Given the description of an element on the screen output the (x, y) to click on. 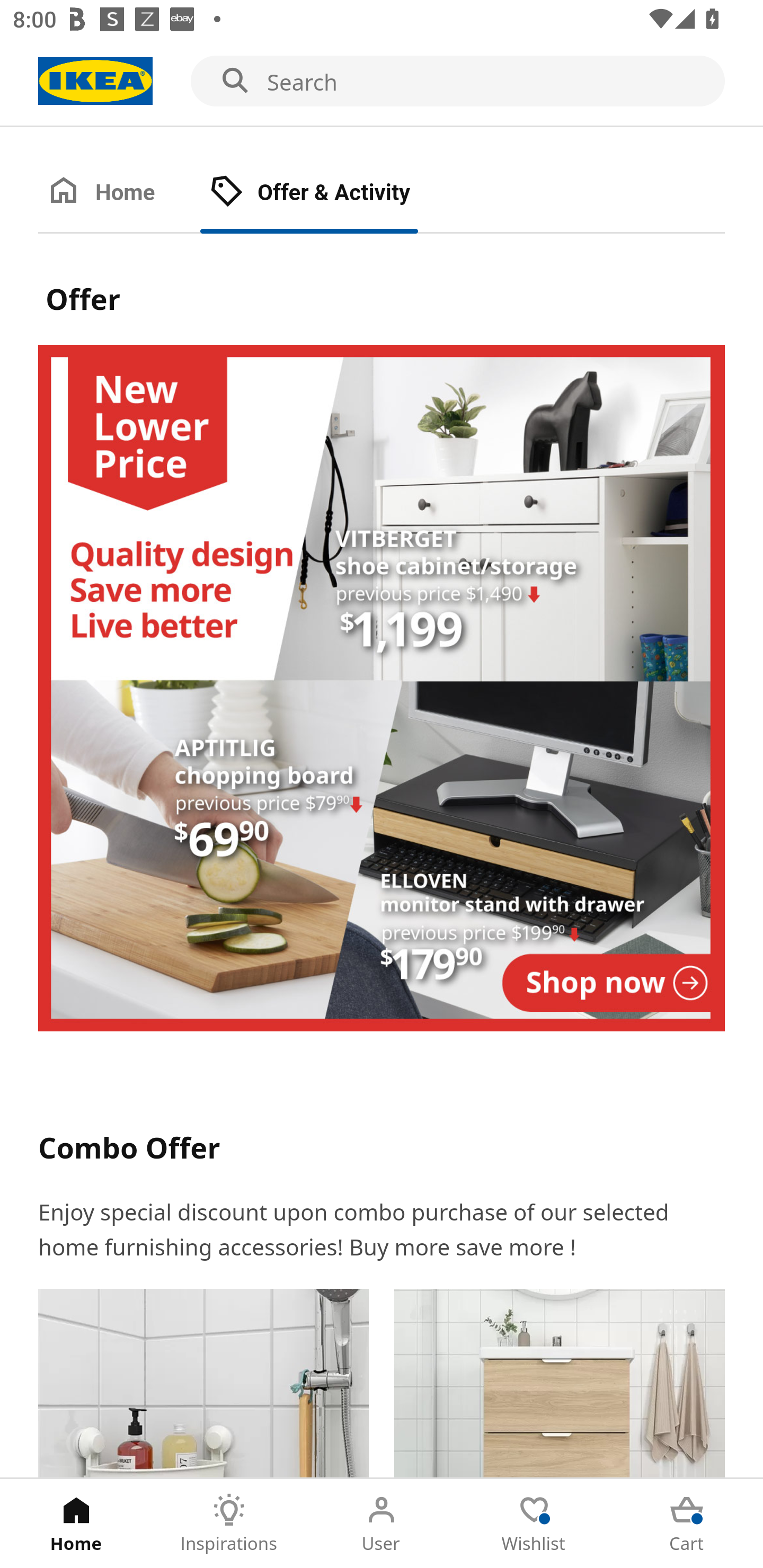
Search (381, 81)
Home
Tab 1 of 2 (118, 192)
Offer & Activity
Tab 2 of 2 (327, 192)
Home
Tab 1 of 5 (76, 1522)
Inspirations
Tab 2 of 5 (228, 1522)
User
Tab 3 of 5 (381, 1522)
Wishlist
Tab 4 of 5 (533, 1522)
Cart
Tab 5 of 5 (686, 1522)
